Given the description of an element on the screen output the (x, y) to click on. 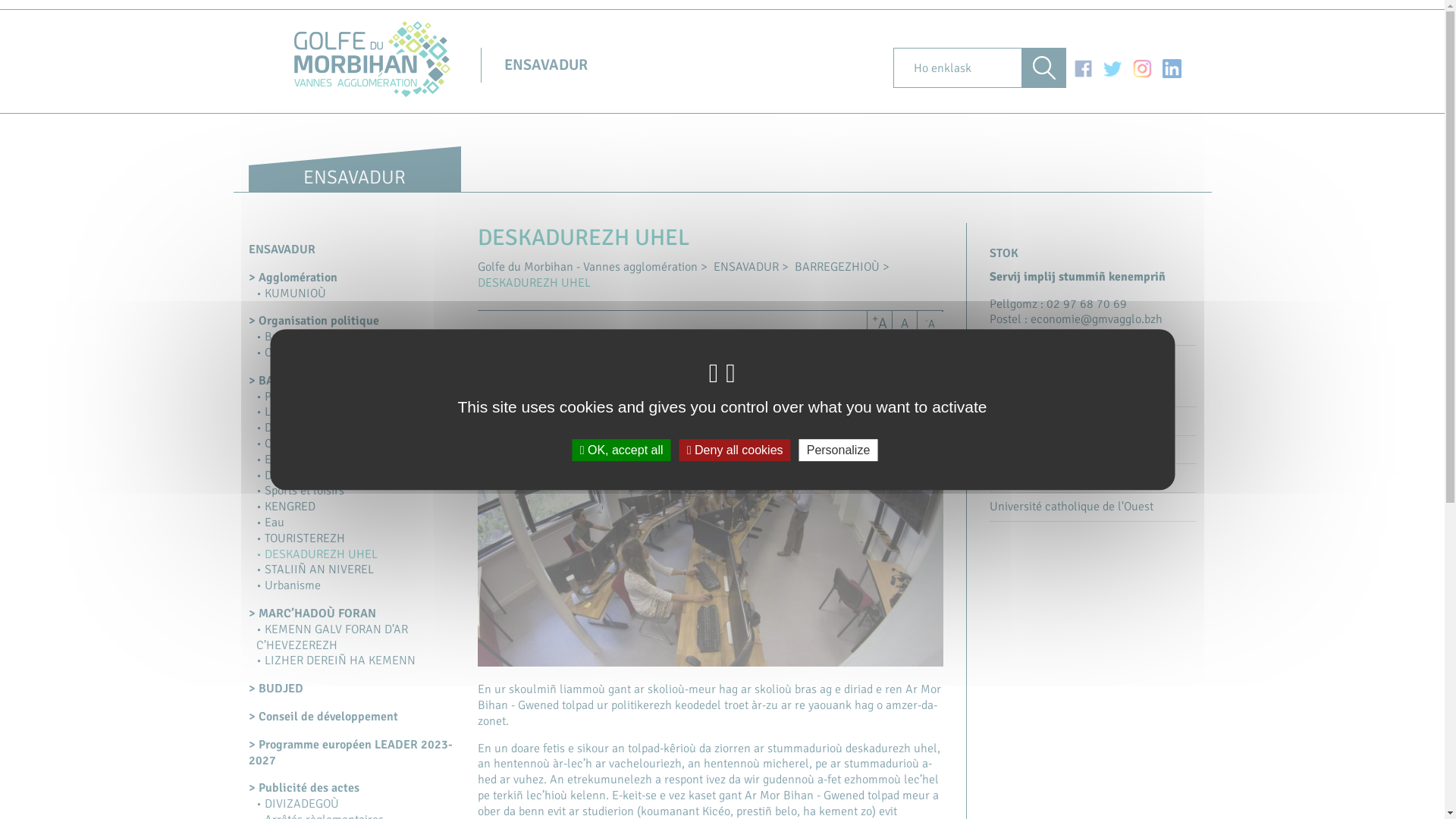
Bureau communautaire Element type: text (321, 336)
A Element type: text (903, 323)
DESKADUREZH UHEL Element type: text (316, 553)
DIORREN AN EKONOMIEZH Element type: text (331, 427)
BUDJED Element type: text (275, 688)
KENGRED Element type: text (285, 506)
Organisation politique Element type: text (313, 320)
OK, accept all Element type: text (621, 450)
+A Element type: text (878, 323)
-A Element type: text (928, 323)
ICAM Element type: text (1092, 424)
Sports et loisirs Element type: text (300, 490)
Eau Element type: text (270, 522)
ENSAVADUR Element type: text (745, 266)
Personalize Element type: text (838, 450)
Culture Element type: text (280, 443)
SBUIKB Element type: text (1092, 395)
Environnement Element type: text (299, 459)
Skol-veur Breizh-Izel Element type: text (1092, 453)
ENSAVADUR Element type: text (281, 249)
LASTEZ Element type: text (280, 411)
TOURISTEREZH Element type: text (300, 538)
ENSAVADUR Element type: text (545, 64)
Urbanisme Element type: text (288, 585)
POLITIKEREZH AL LOJEIZ Element type: text (326, 396)
Deny all cookies Element type: text (734, 450)
Conseil communautaire Element type: text (322, 352)
